Given the description of an element on the screen output the (x, y) to click on. 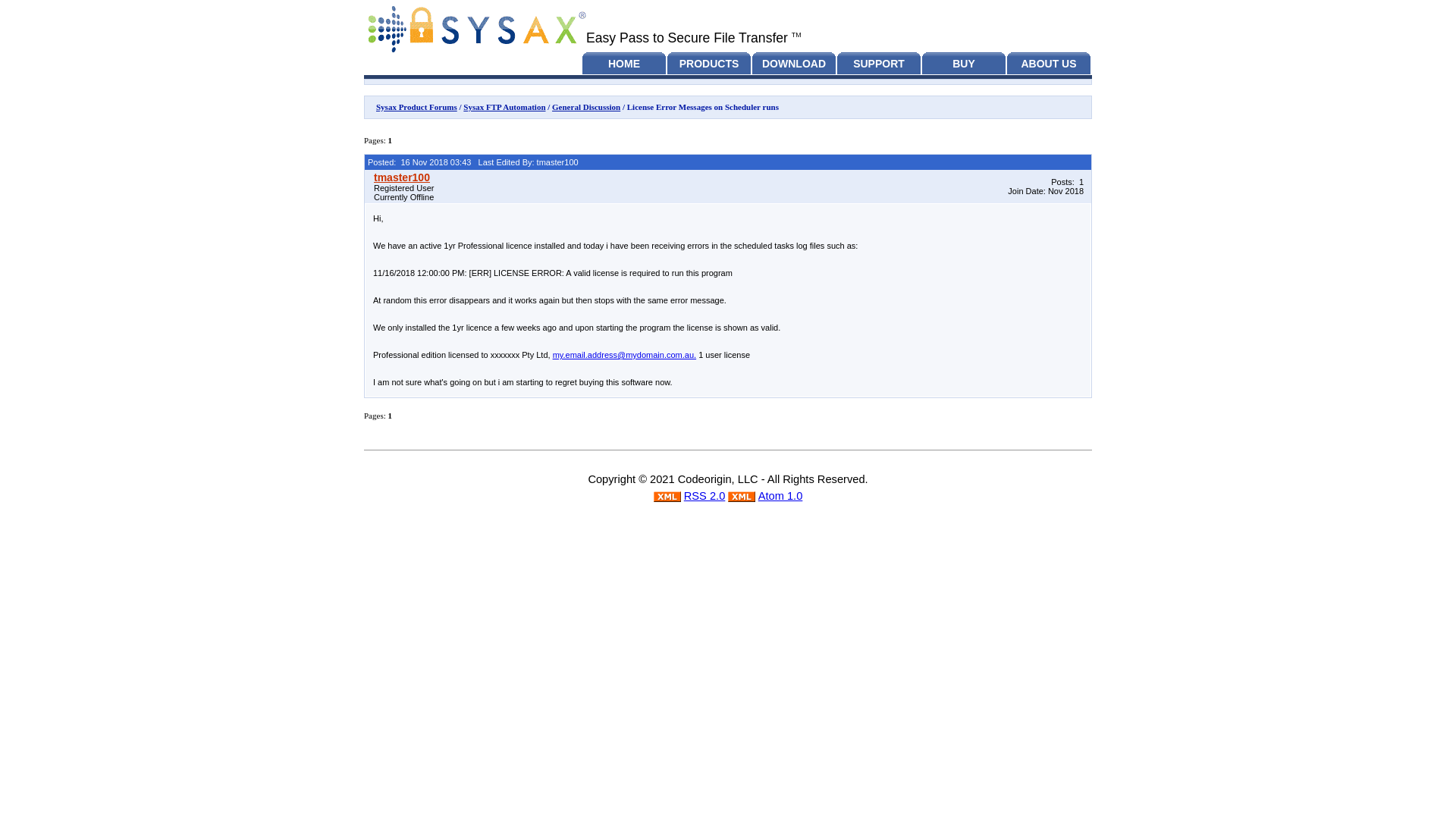
SUPPORT (878, 65)
DOWNLOAD (793, 65)
HOME (623, 65)
PRODUCTS (708, 65)
ABOUT US (1048, 65)
tmaster100 (652, 177)
RSS 2.0 feed (667, 496)
BUY (963, 65)
Atom 1.0 feed (741, 496)
Sysax FTP Automation (503, 106)
